Given the description of an element on the screen output the (x, y) to click on. 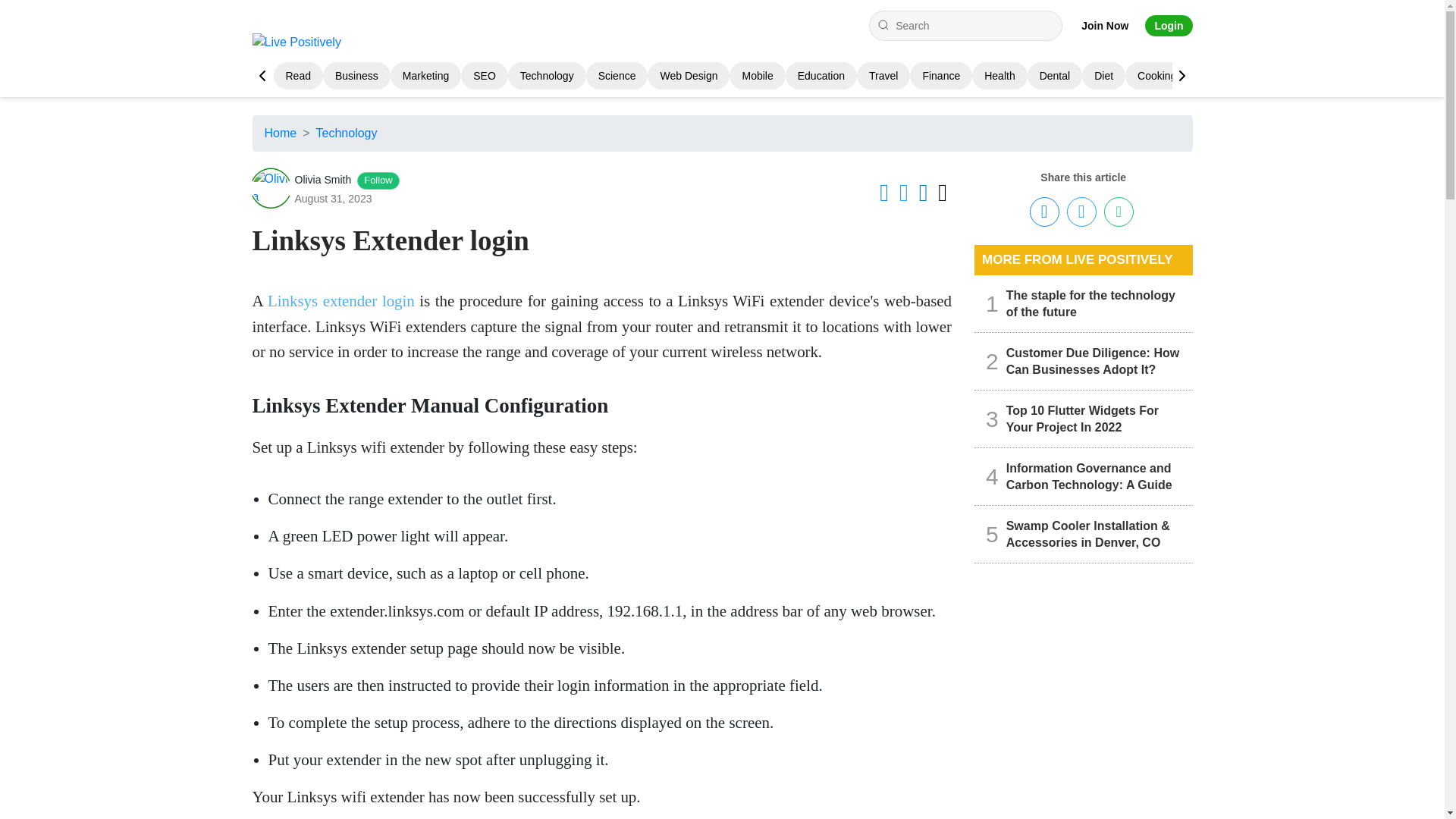
Join Now (1104, 25)
Marketing (425, 75)
Travel (883, 75)
Finance (940, 75)
Share via Facebook (1044, 211)
Share via Email (1118, 211)
Livepositively (301, 42)
Web Design (688, 75)
Technology (546, 75)
Login (1168, 25)
Cooking (1156, 75)
Science (617, 75)
Diet (1103, 75)
Business (356, 75)
Dental (1054, 75)
